Given the description of an element on the screen output the (x, y) to click on. 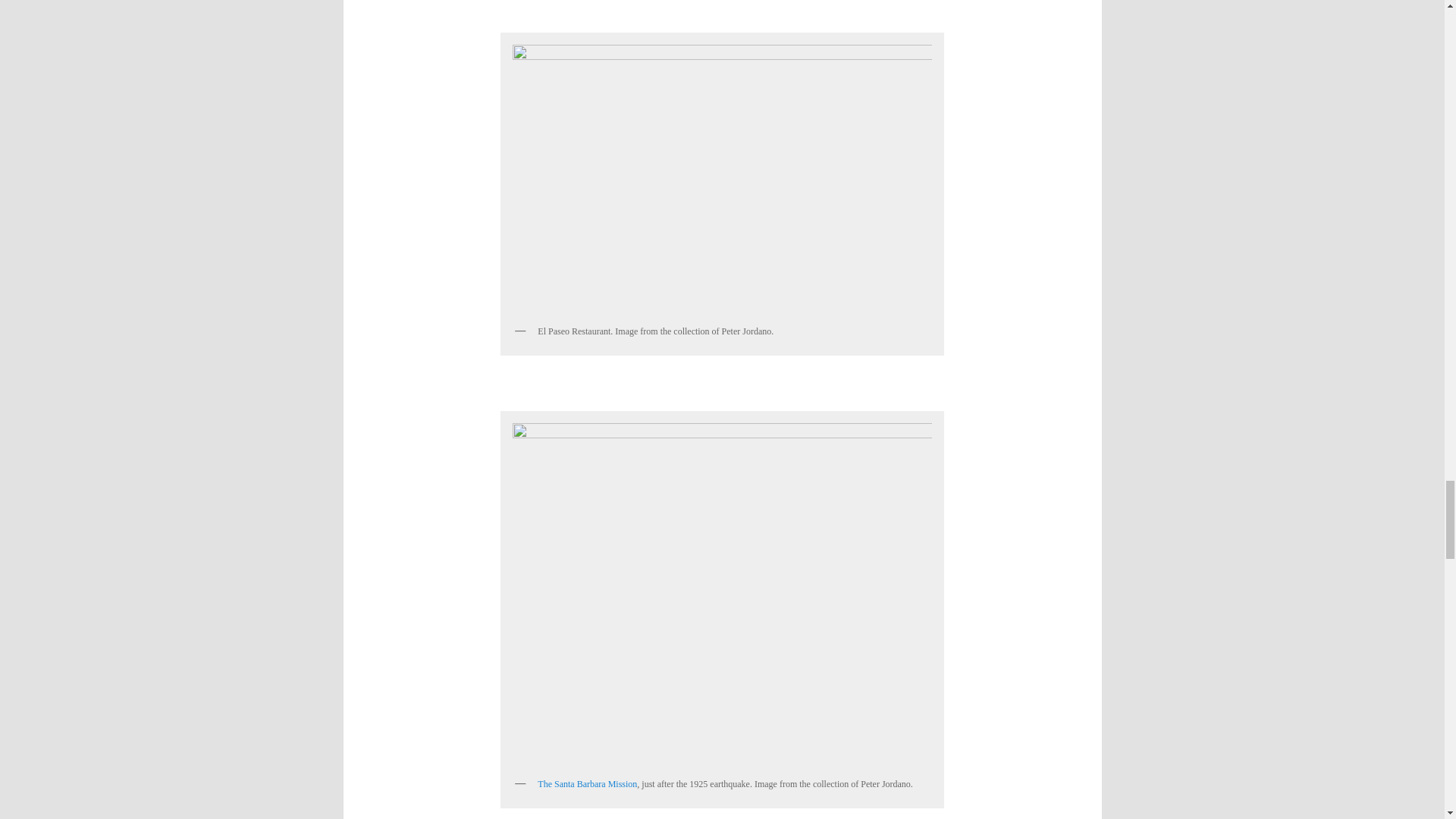
The Santa Barbara Mission (587, 783)
